Given the description of an element on the screen output the (x, y) to click on. 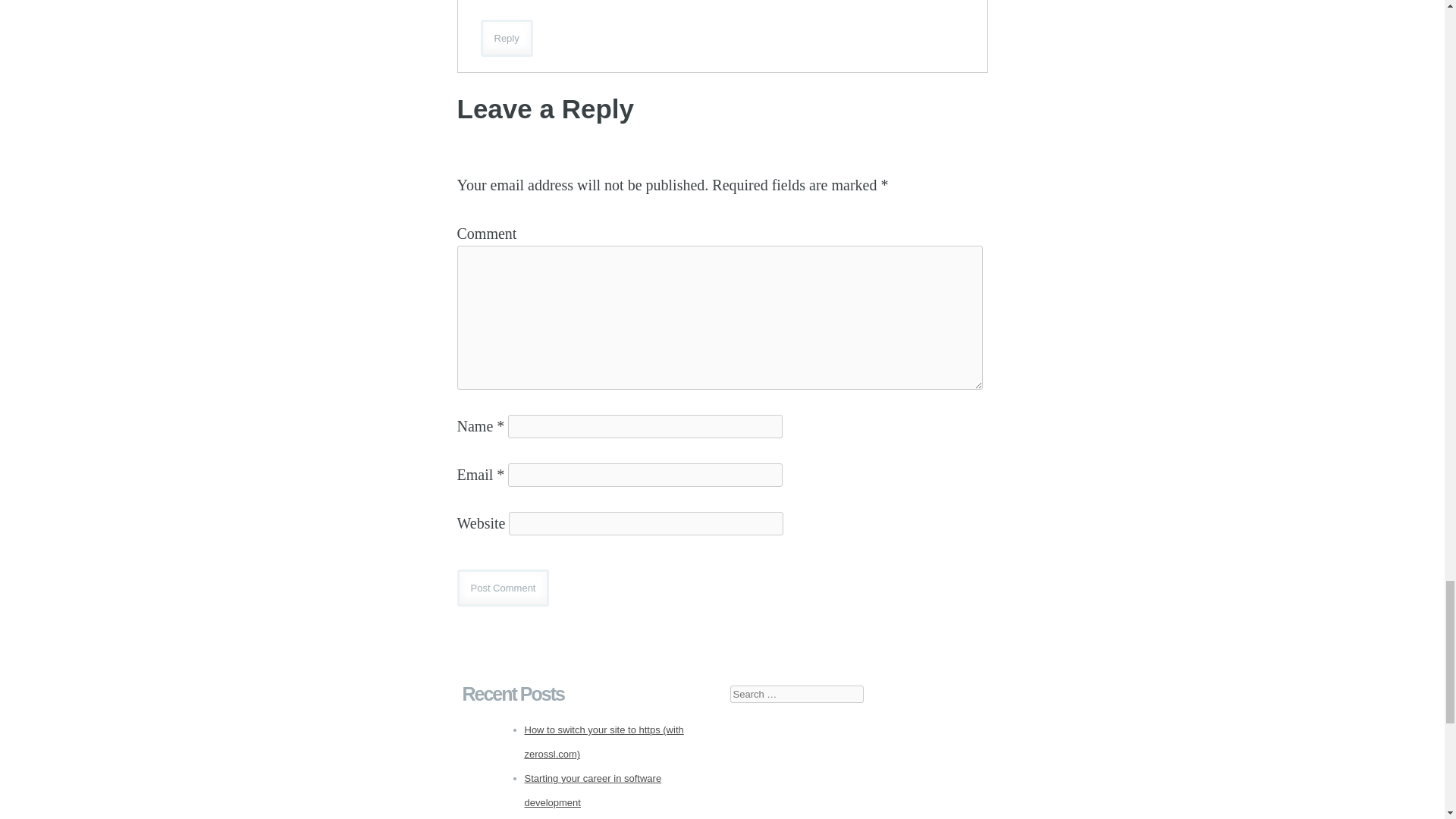
Post Comment (502, 587)
Post Comment (502, 587)
Reply (506, 37)
Starting your career in software development (593, 790)
